Given the description of an element on the screen output the (x, y) to click on. 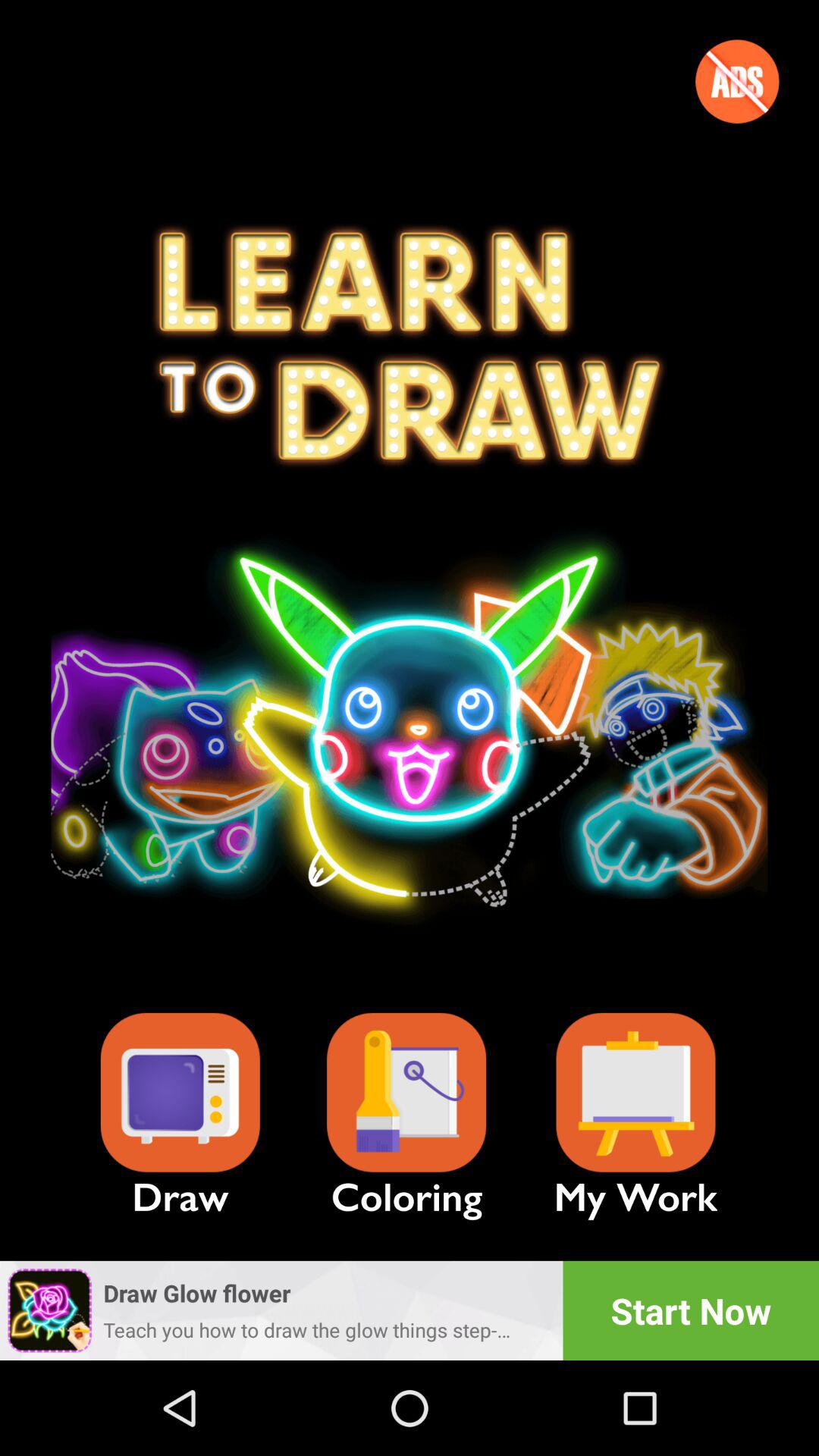
open the start now icon (691, 1310)
